Given the description of an element on the screen output the (x, y) to click on. 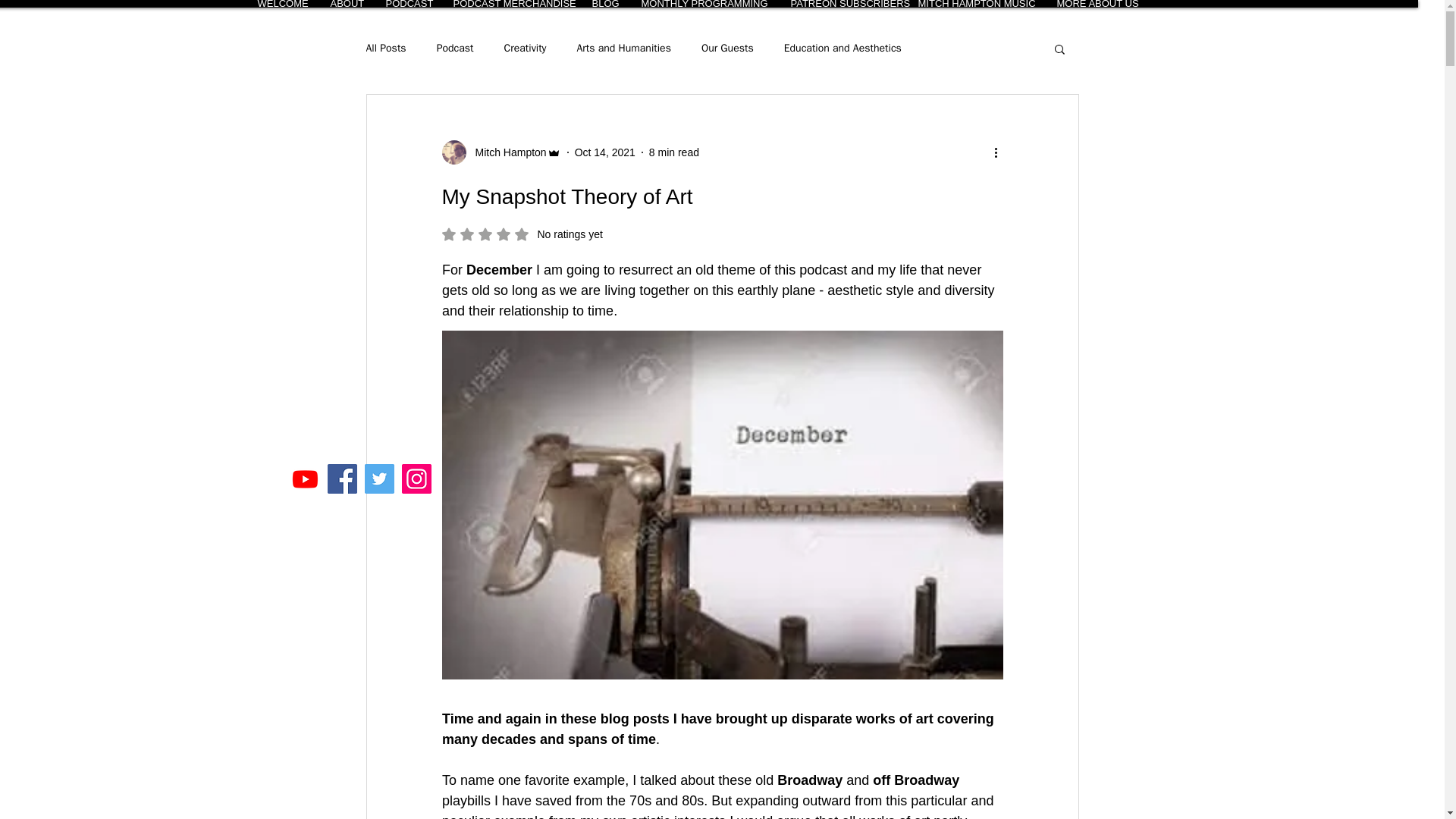
WELCOME (282, 3)
Education and Aesthetics (842, 48)
MITCH HAMPTON MUSIC (974, 3)
Podcast (455, 48)
Mitch  Hampton (505, 151)
Creativity (525, 48)
BLOG (603, 3)
ABOUT (346, 3)
MORE ABOUT US (1096, 3)
8 min read (673, 151)
PATREON SUBSCRIBERS (841, 3)
MONTHLY PROGRAMMING (703, 3)
Our Guests (727, 48)
Mitch Hampton (500, 152)
PODCAST MERCHANDISE (510, 3)
